Given the description of an element on the screen output the (x, y) to click on. 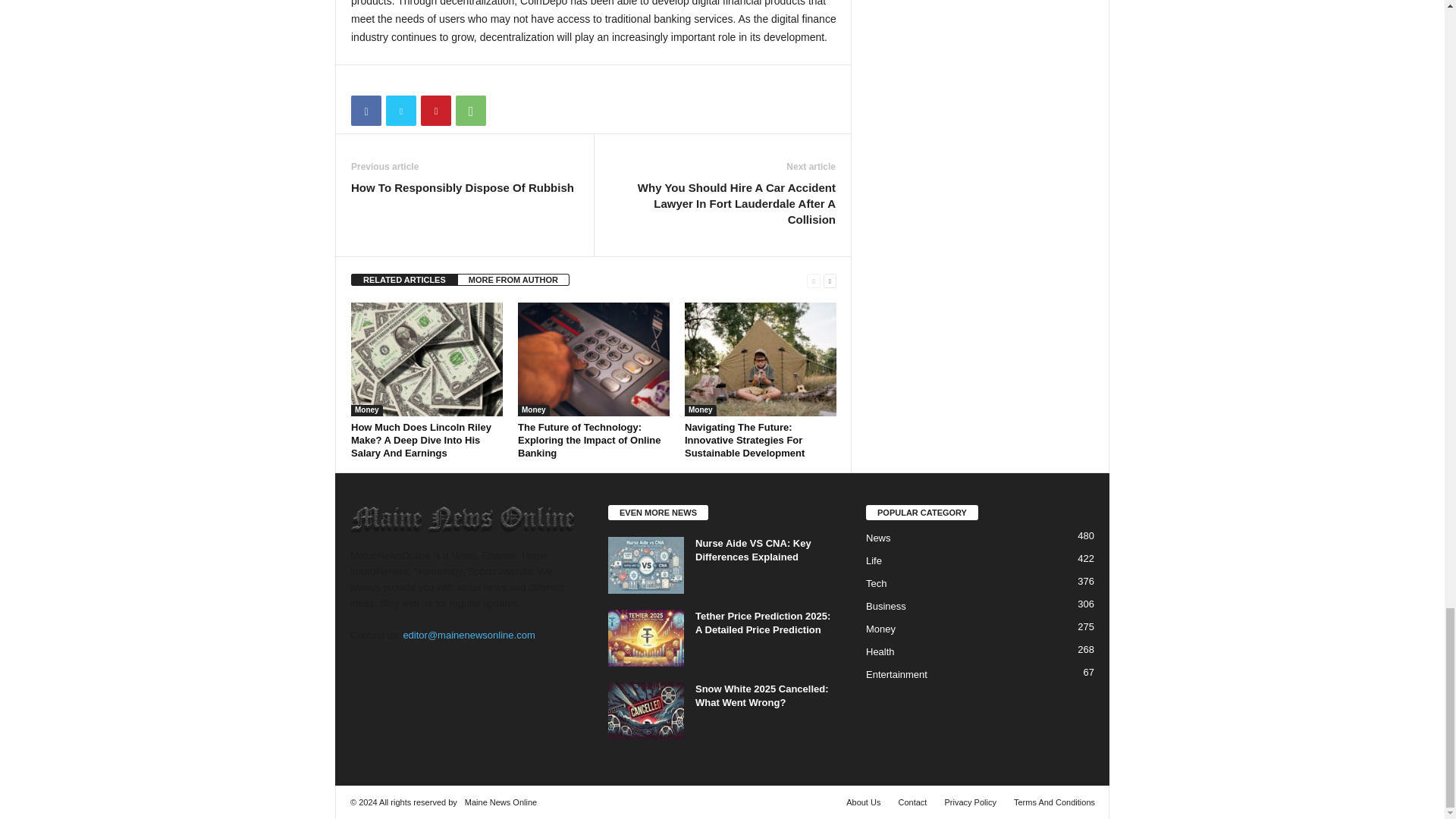
Pinterest (435, 110)
WhatsApp (470, 110)
Twitter (400, 110)
Facebook (365, 110)
RELATED ARTICLES (404, 279)
MORE FROM AUTHOR (513, 279)
bottomFacebookLike (390, 80)
How To Responsibly Dispose Of Rubbish (461, 187)
